Given the description of an element on the screen output the (x, y) to click on. 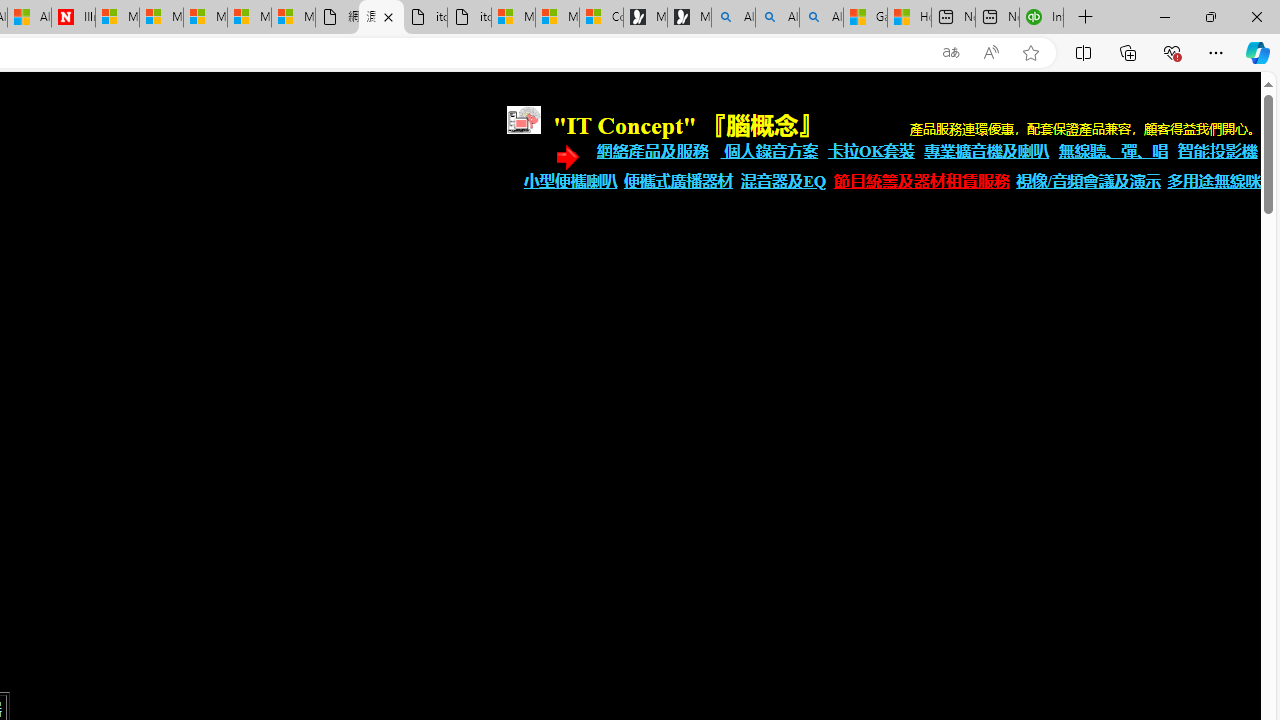
Intuit QuickBooks Online - Quickbooks (1041, 17)
Consumer Health Data Privacy Policy (601, 17)
